Given the description of an element on the screen output the (x, y) to click on. 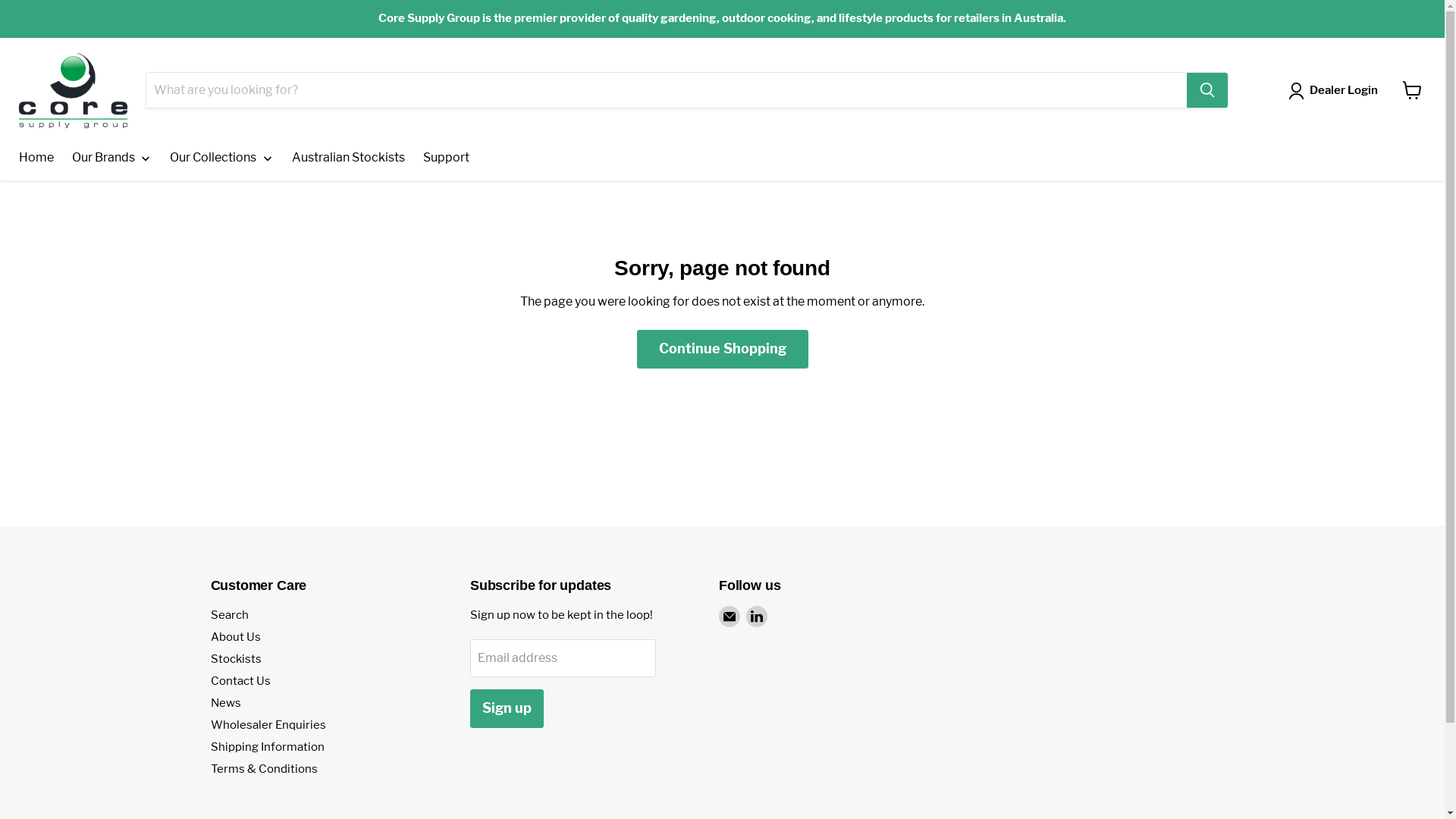
Terms & Conditions Element type: text (263, 768)
Wholesaler Enquiries Element type: text (268, 724)
News Element type: text (225, 702)
Email Core Supply Group Pty Ltd Element type: text (729, 616)
Find us on LinkedIn Element type: text (756, 616)
Sign up Element type: text (506, 708)
Shipping Information Element type: text (267, 746)
Our Brands Element type: text (111, 157)
Contact Us Element type: text (240, 680)
View cart Element type: text (1412, 89)
Dealer Login Element type: text (1335, 90)
Home Element type: text (35, 157)
Our Collections Element type: text (221, 157)
Australian Stockists Element type: text (347, 157)
About Us Element type: text (235, 636)
Search Element type: text (229, 614)
Stockists Element type: text (235, 658)
Support Element type: text (446, 157)
Continue Shopping Element type: text (722, 348)
